Given the description of an element on the screen output the (x, y) to click on. 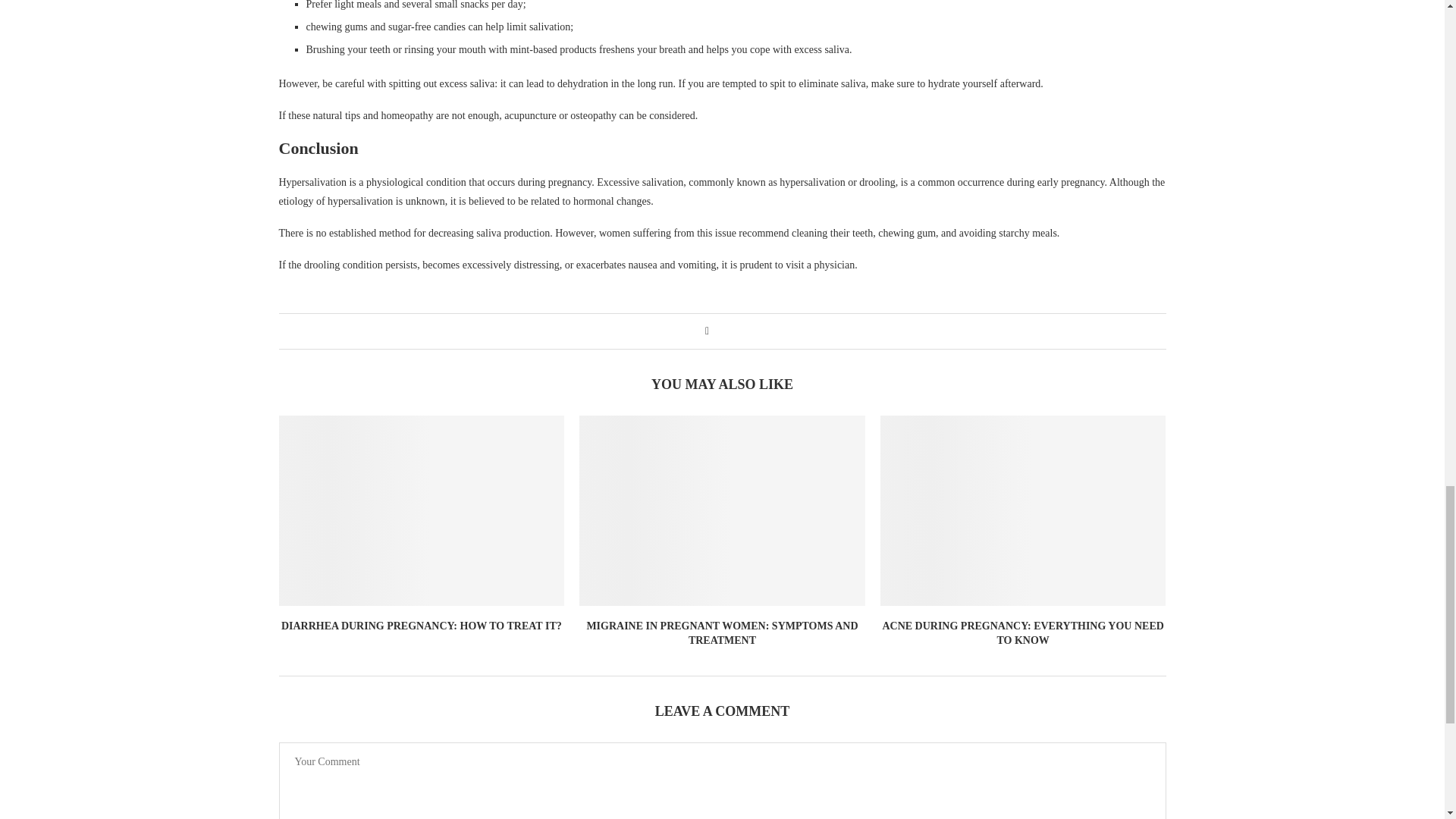
Acne during pregnancy: Everything you need to know (1023, 510)
Migraine in pregnant women: Symptoms and treatment (721, 510)
Diarrhea during pregnancy: how to treat it? (421, 510)
